Given the description of an element on the screen output the (x, y) to click on. 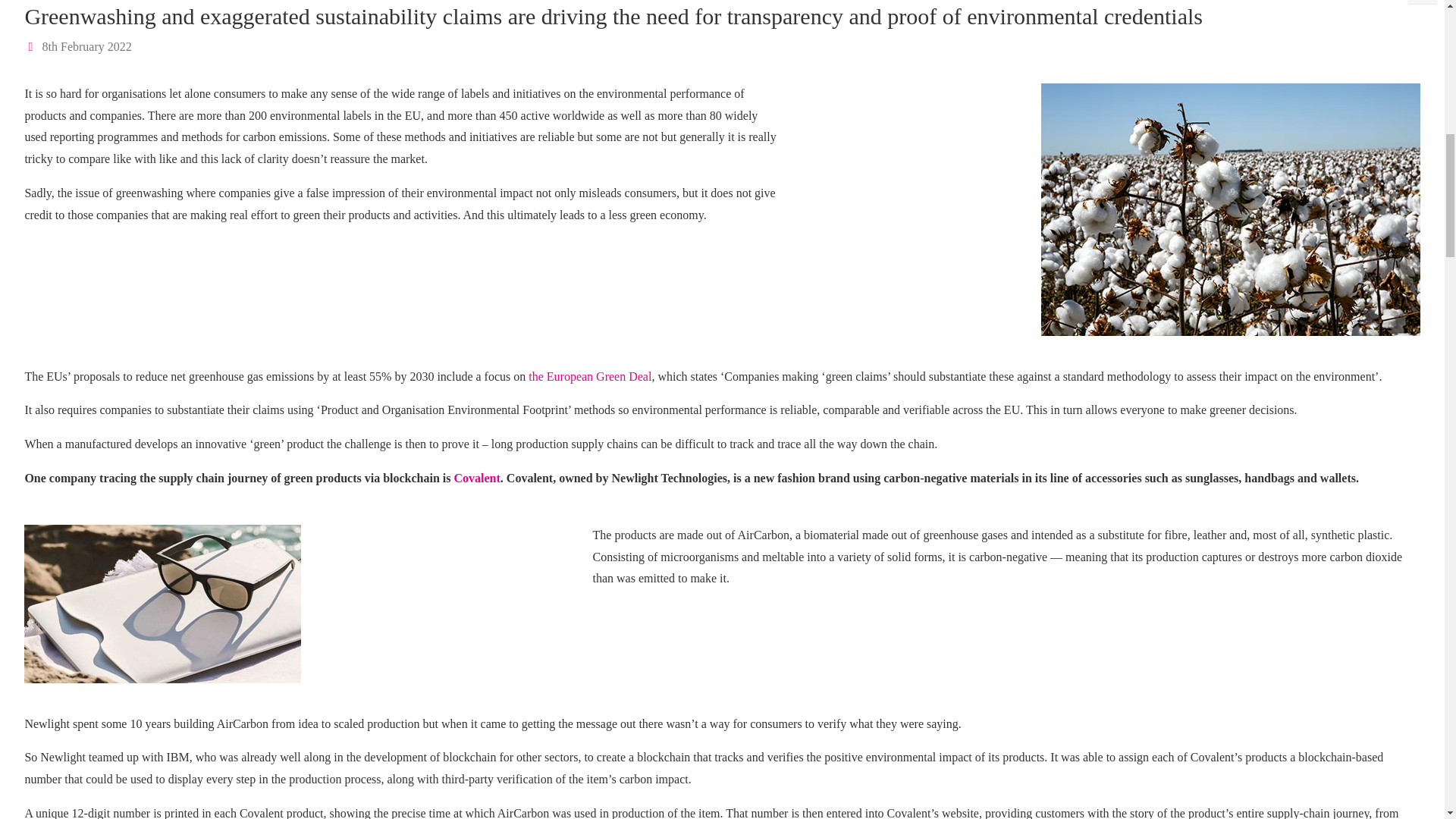
the European Green Deal (589, 376)
Date (31, 46)
Covalent (475, 477)
